Given the description of an element on the screen output the (x, y) to click on. 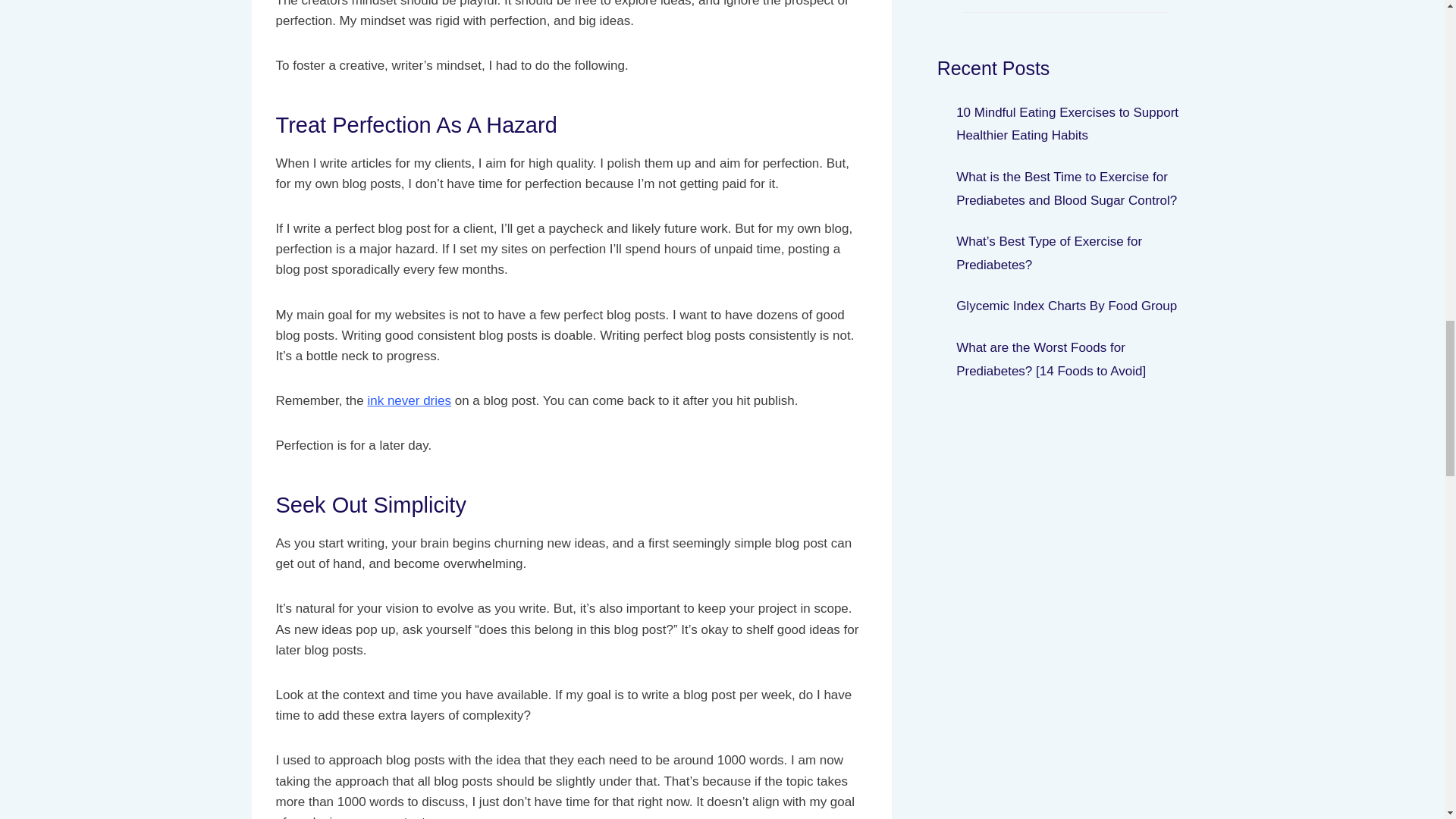
ink never dries (408, 400)
Glycemic Index Charts By Food Group (1066, 305)
